Given the description of an element on the screen output the (x, y) to click on. 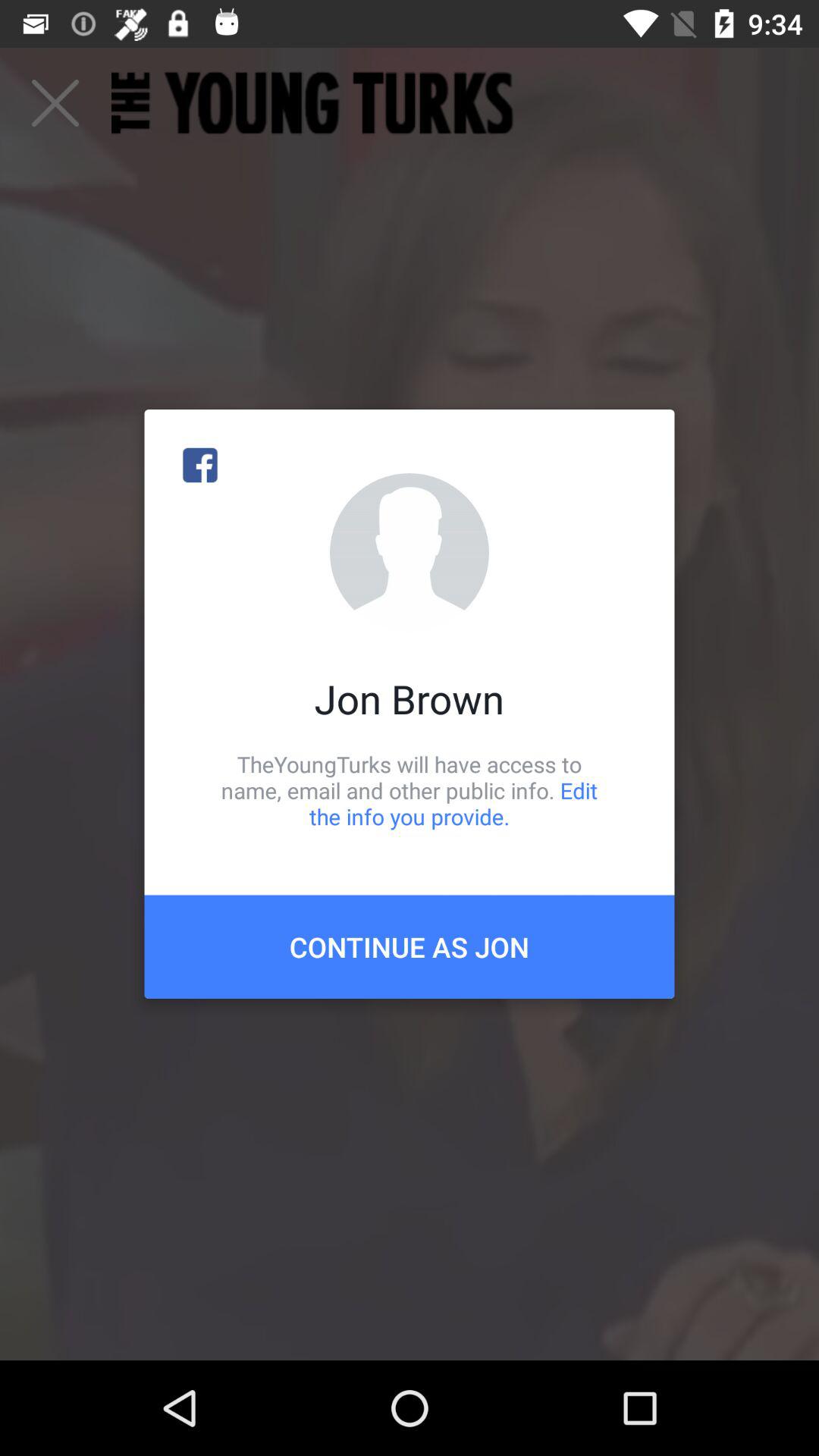
jump to the theyoungturks will have (409, 790)
